Given the description of an element on the screen output the (x, y) to click on. 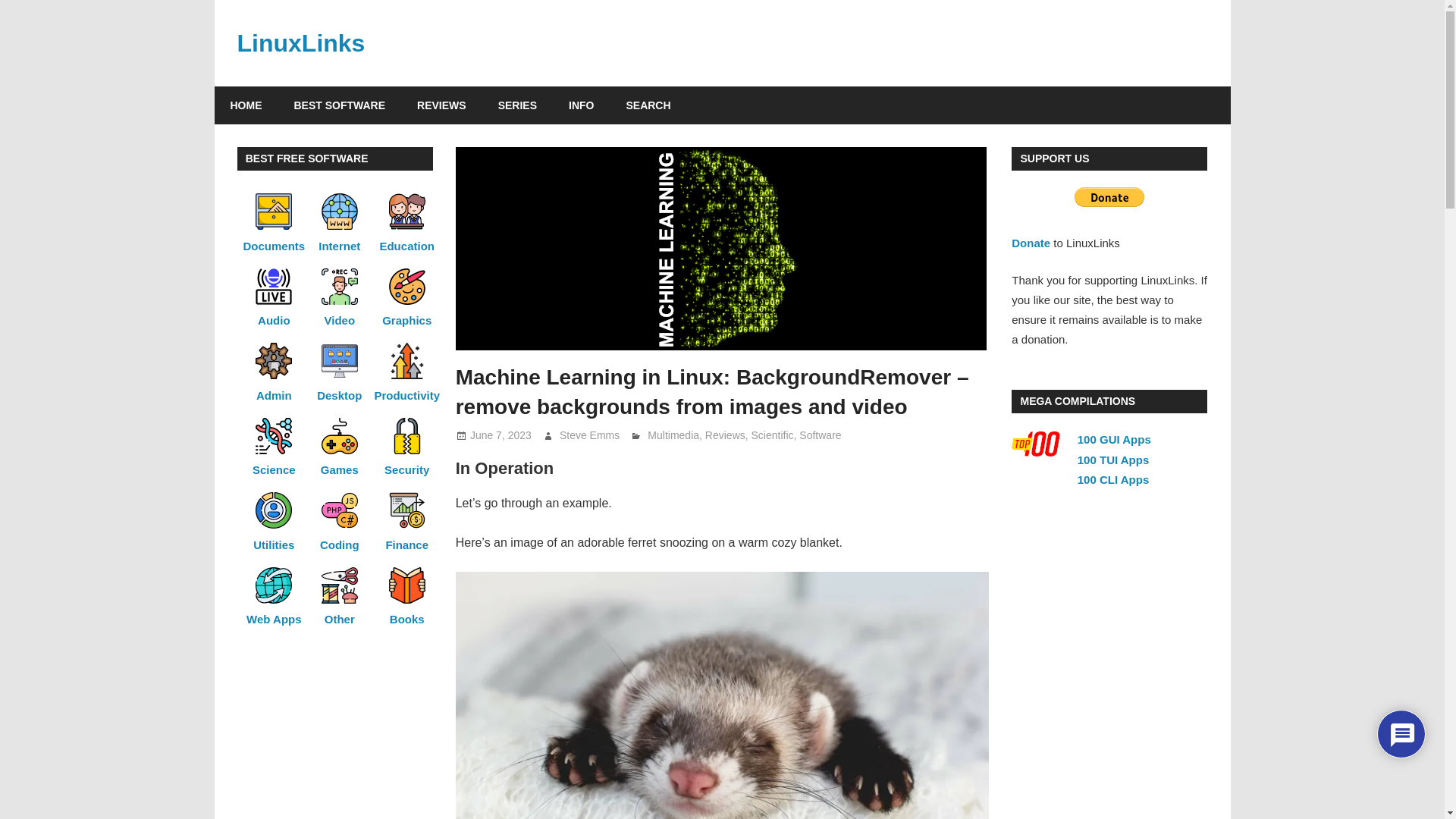
View all posts by Steve Emms (589, 435)
Scientific (772, 435)
REVIEWS (441, 105)
SERIES (517, 105)
June 7, 2023 (500, 435)
LinuxLinks (300, 42)
SEARCH (647, 105)
Multimedia (672, 435)
8:49 am (500, 435)
Software (820, 435)
